Given the description of an element on the screen output the (x, y) to click on. 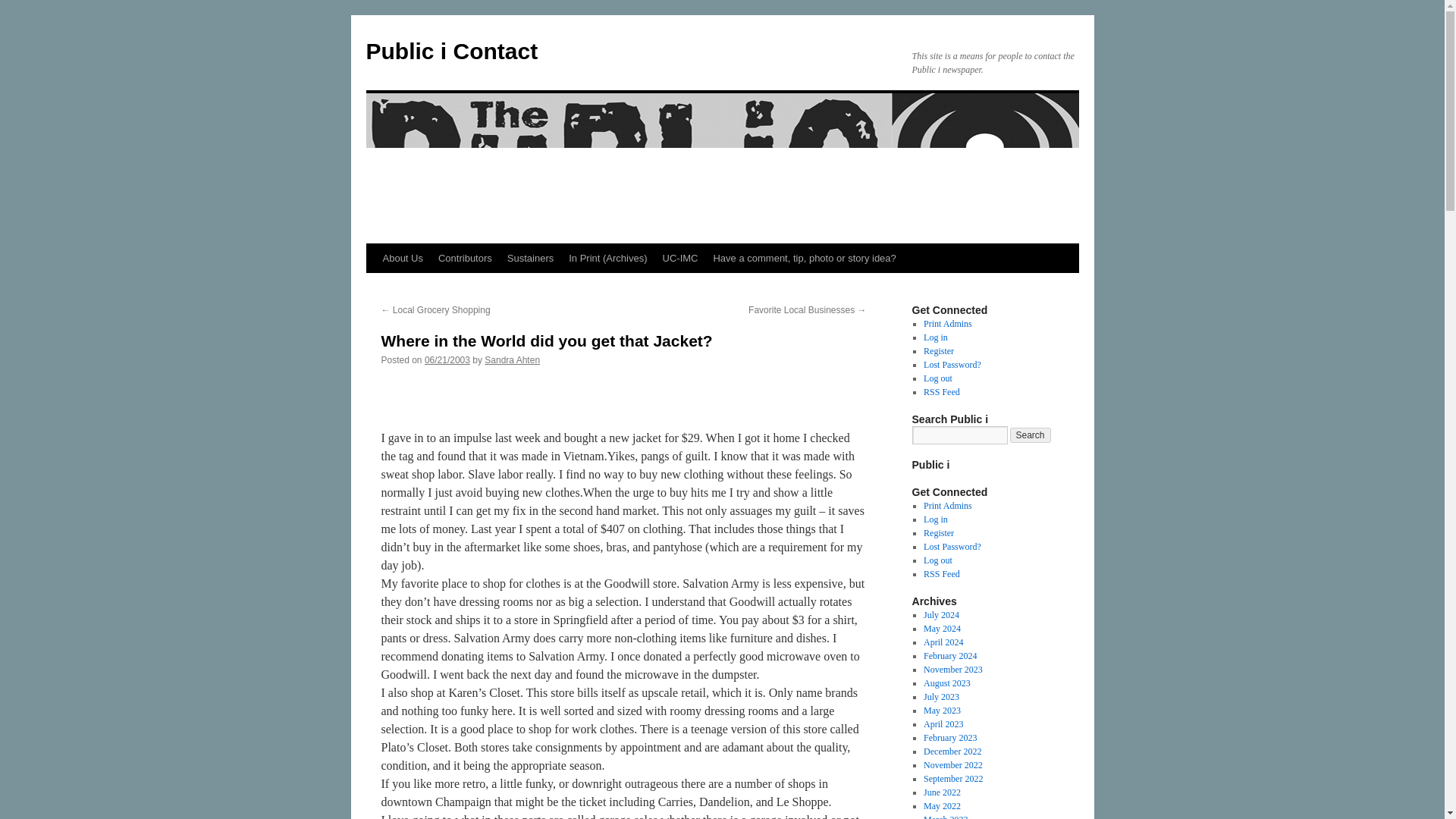
May 2024 (941, 628)
Sandra Ahten (512, 359)
November 2023 (952, 669)
February 2024 (949, 655)
RSS Feed (941, 391)
7:54 pm (447, 359)
July 2023 (941, 696)
Log in (935, 337)
Search (1030, 435)
July 2024 (941, 614)
